Given the description of an element on the screen output the (x, y) to click on. 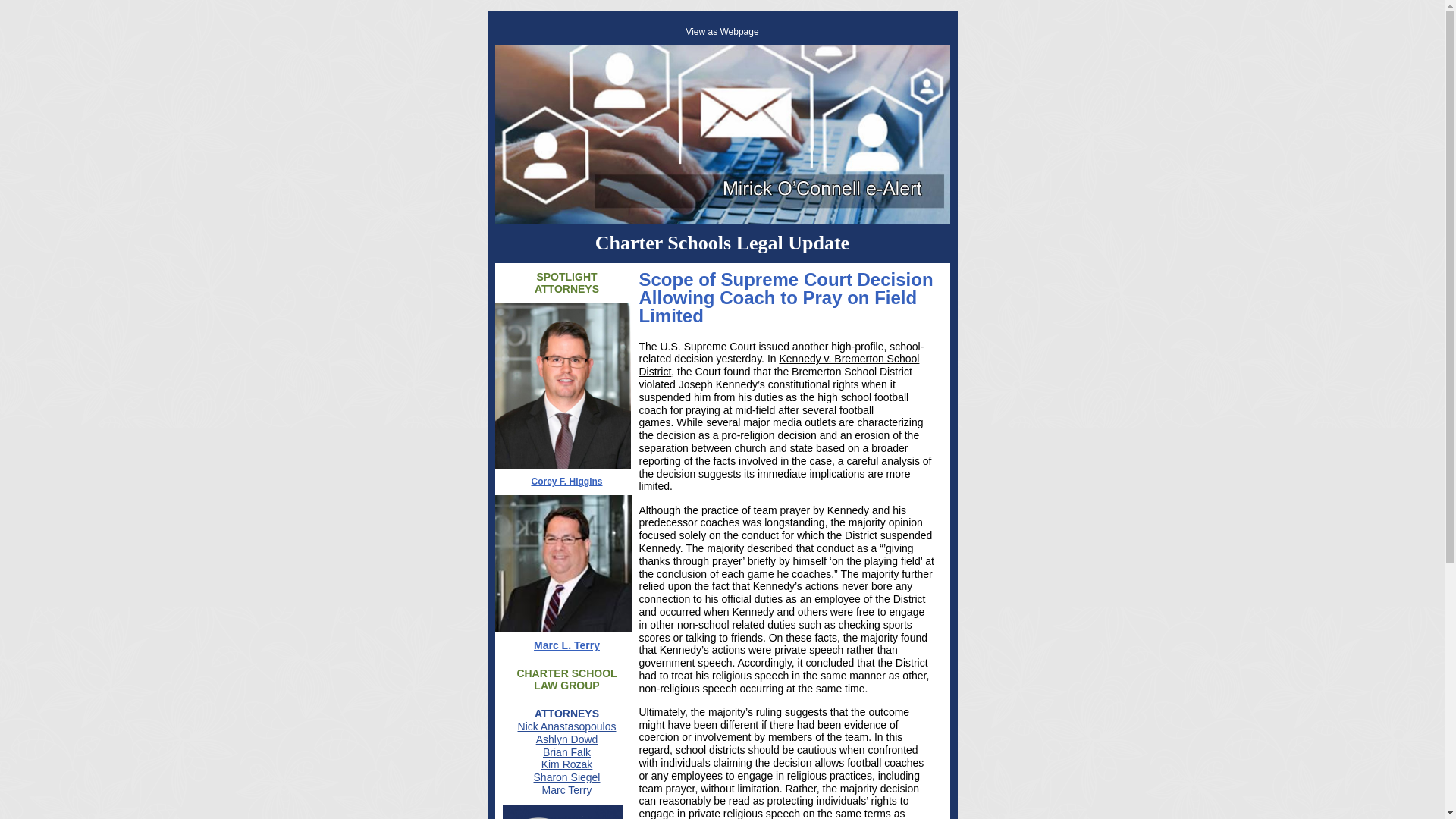
Ashlyn Dowd (566, 739)
View as Webpage (721, 31)
Brian Falk (567, 752)
Sharon Siegel (566, 776)
Nick Anastasopoulos (566, 726)
Marc L. Terry (566, 645)
Kim Rozak (566, 764)
Marc Terry (566, 789)
Corey F. Higgins (566, 480)
